Given the description of an element on the screen output the (x, y) to click on. 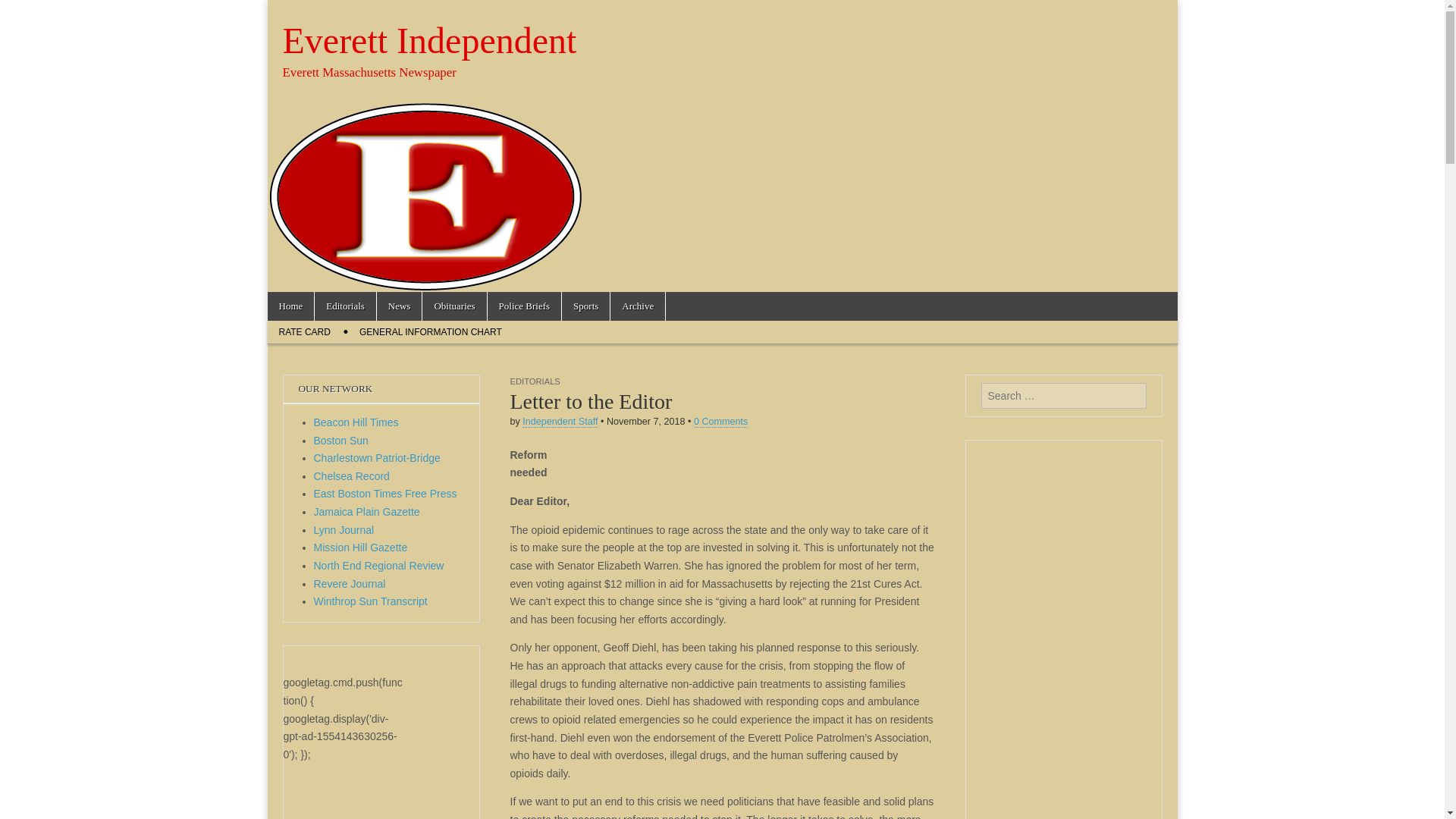
EDITORIALS (534, 380)
Winthrop Sun Transcript (371, 601)
East Boston Times Free Press (385, 493)
Editorials (344, 306)
Sports (586, 306)
Chelsea Record (352, 476)
Home (290, 306)
Everett Independent (429, 40)
Independent Staff (559, 421)
Revere Journal (349, 583)
Police Briefs (524, 306)
Jamaica Plain Gazette (367, 511)
North End Regional Review (379, 565)
